Given the description of an element on the screen output the (x, y) to click on. 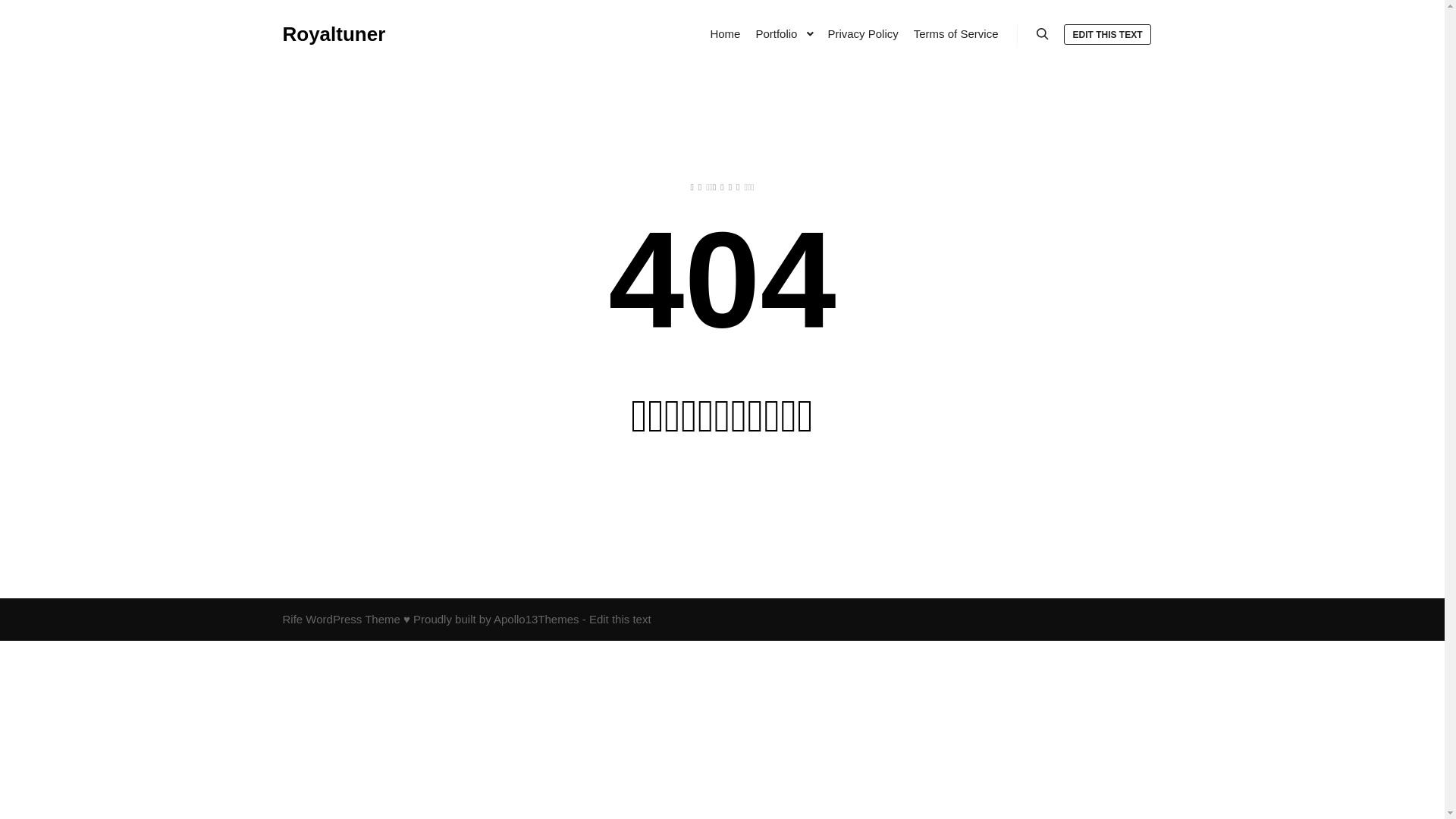
Terms of Service Element type: text (956, 34)
Privacy Policy Element type: text (862, 34)
Apollo13Themes Element type: text (536, 618)
Royaltuner Element type: text (333, 34)
Rife Element type: text (292, 618)
EDIT THIS TEXT Element type: text (1106, 34)
Home Element type: text (724, 34)
